Given the description of an element on the screen output the (x, y) to click on. 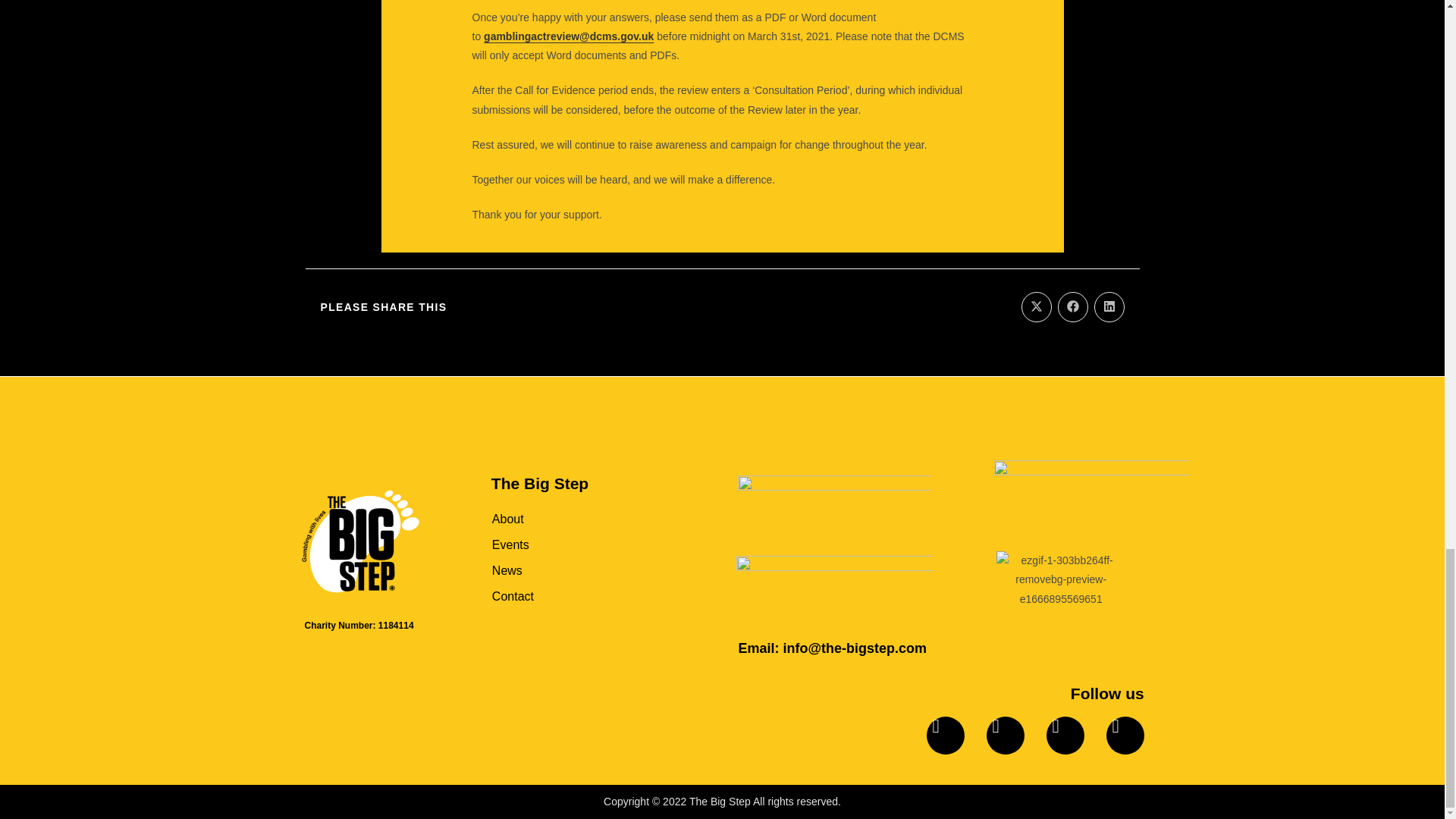
News (577, 570)
ezgif-1-303bb264ff-removebg-preview-e1666895569651 (1060, 580)
Events (577, 544)
Contact (577, 596)
About (577, 519)
